Given the description of an element on the screen output the (x, y) to click on. 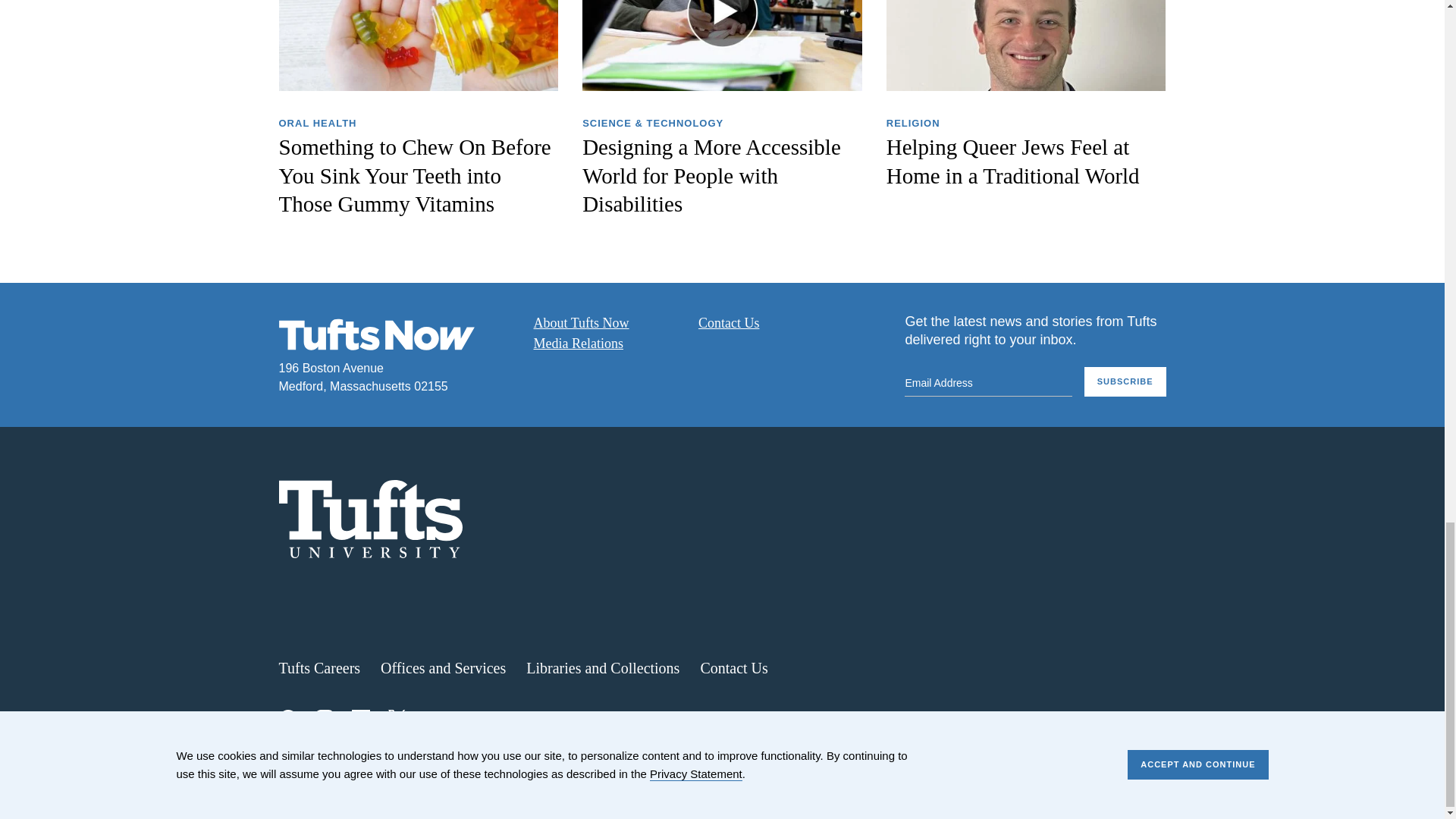
Subscribe (1125, 381)
